Given the description of an element on the screen output the (x, y) to click on. 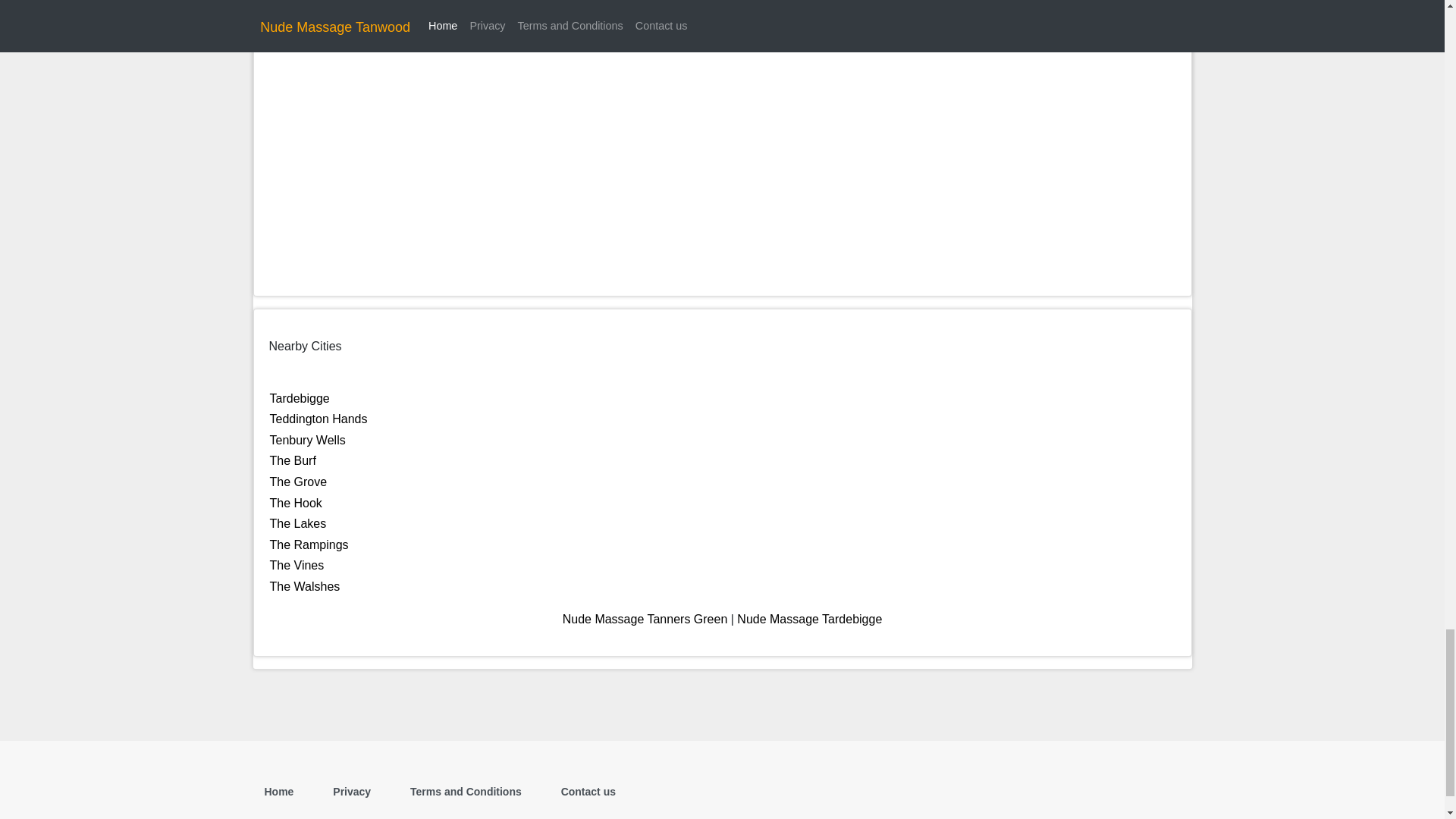
Nude Massage Tardebigge (809, 618)
The Hook (295, 502)
The Rampings (309, 544)
Tenbury Wells (307, 440)
The Walshes (304, 585)
The Lakes (297, 522)
Teddington Hands (318, 418)
The Vines (296, 564)
The Burf (292, 460)
Tardebigge (299, 398)
The Grove (298, 481)
Nude Massage Tanners Green (645, 618)
